Given the description of an element on the screen output the (x, y) to click on. 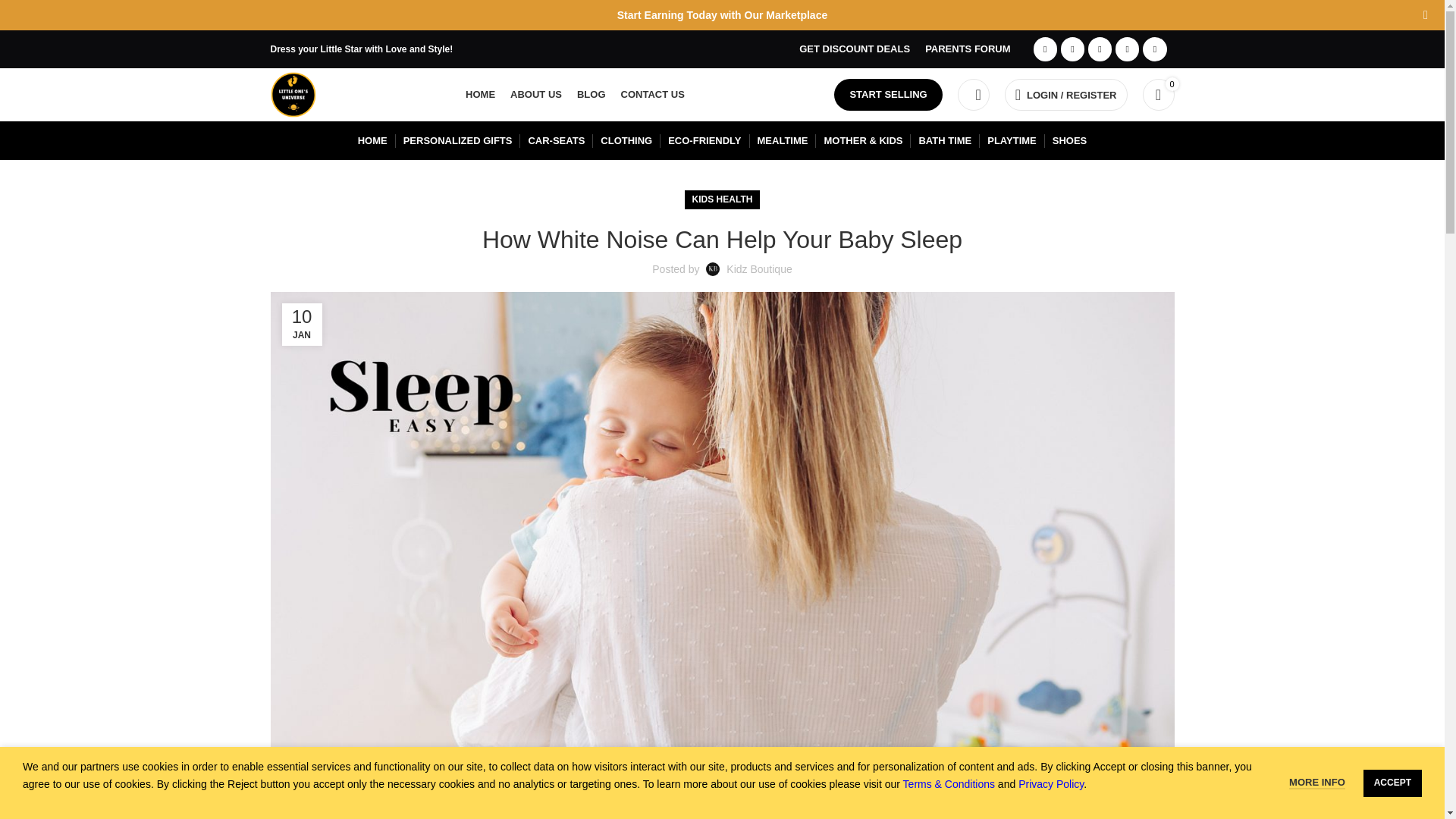
0 (1157, 94)
CLOTHING (625, 141)
CONTACT US (652, 94)
My account (1066, 94)
Shopping cart (1157, 94)
PERSONALIZED GIFTS (457, 141)
MEALTIME (782, 141)
ECO-FRIENDLY (704, 141)
CAR-SEATS (556, 141)
BLOG (590, 94)
PLAYTIME (1011, 141)
Kidz Boutique (759, 268)
BATH TIME (944, 141)
HOME (372, 141)
